Given the description of an element on the screen output the (x, y) to click on. 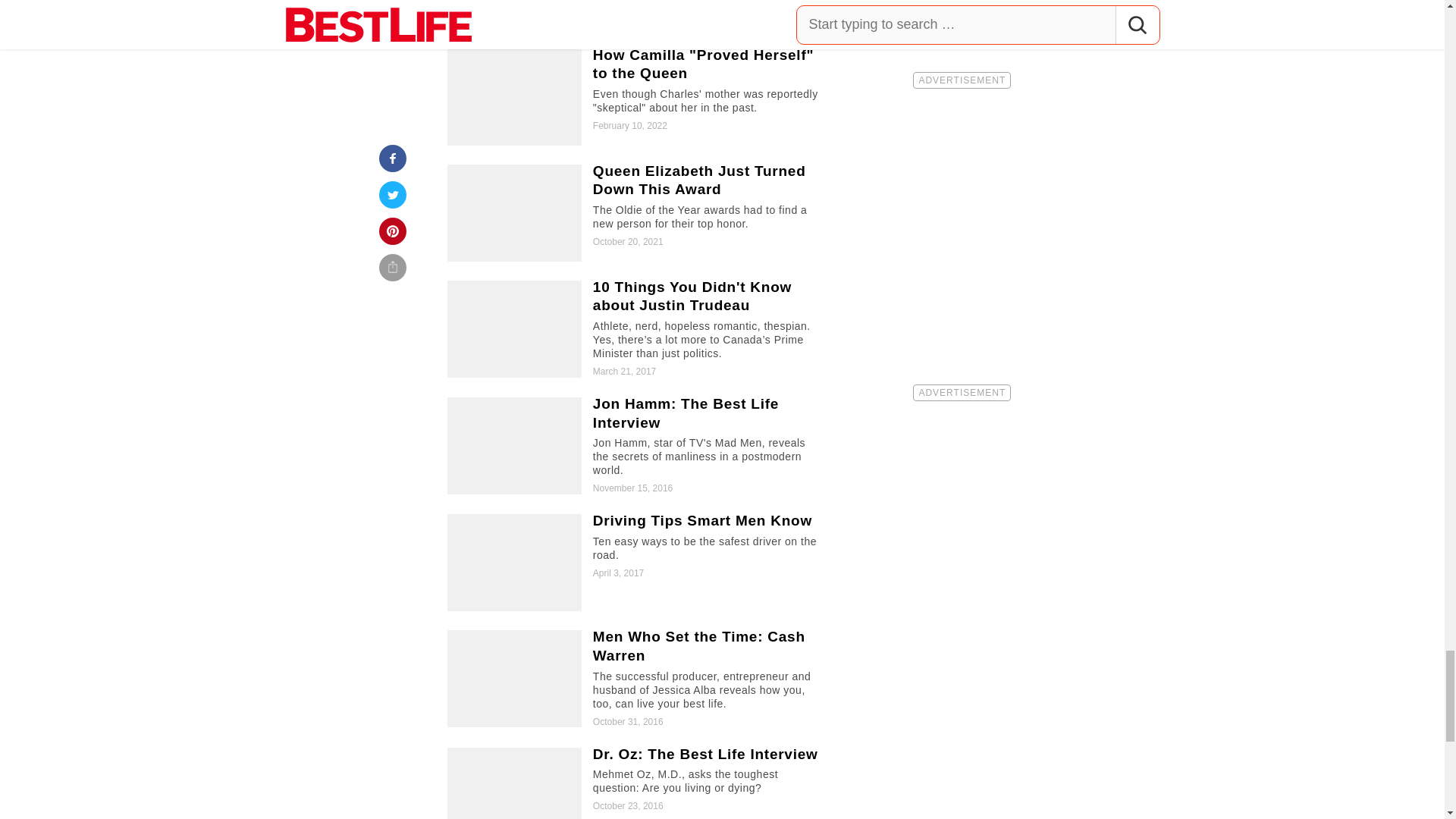
Driving Tips Smart Men Know (635, 562)
Queen Elizabeth Just Turned Down This Award (635, 212)
Men Who Set the Time: Cash Warren (635, 678)
Queen Elizabeth Honors Prince Philip (635, 14)
Dr. Oz: The Best Life Interview (635, 783)
Jon Hamm: The Best Life Interview (635, 446)
How Camilla "Proved Herself" to the Queen (635, 96)
10 Things You Didn't Know about Justin Trudeau (635, 329)
